Given the description of an element on the screen output the (x, y) to click on. 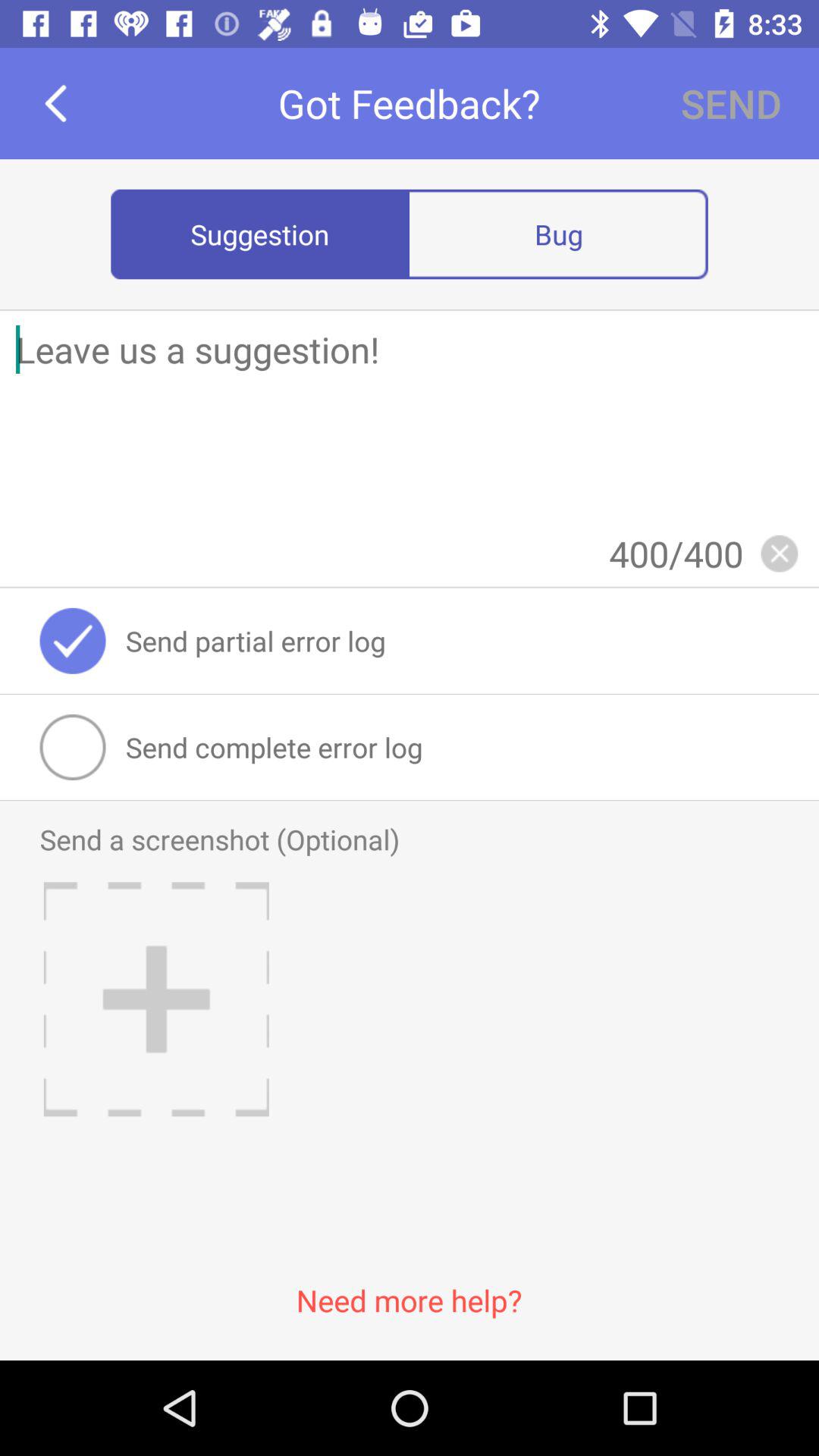
scroll to the suggestion (259, 234)
